Given the description of an element on the screen output the (x, y) to click on. 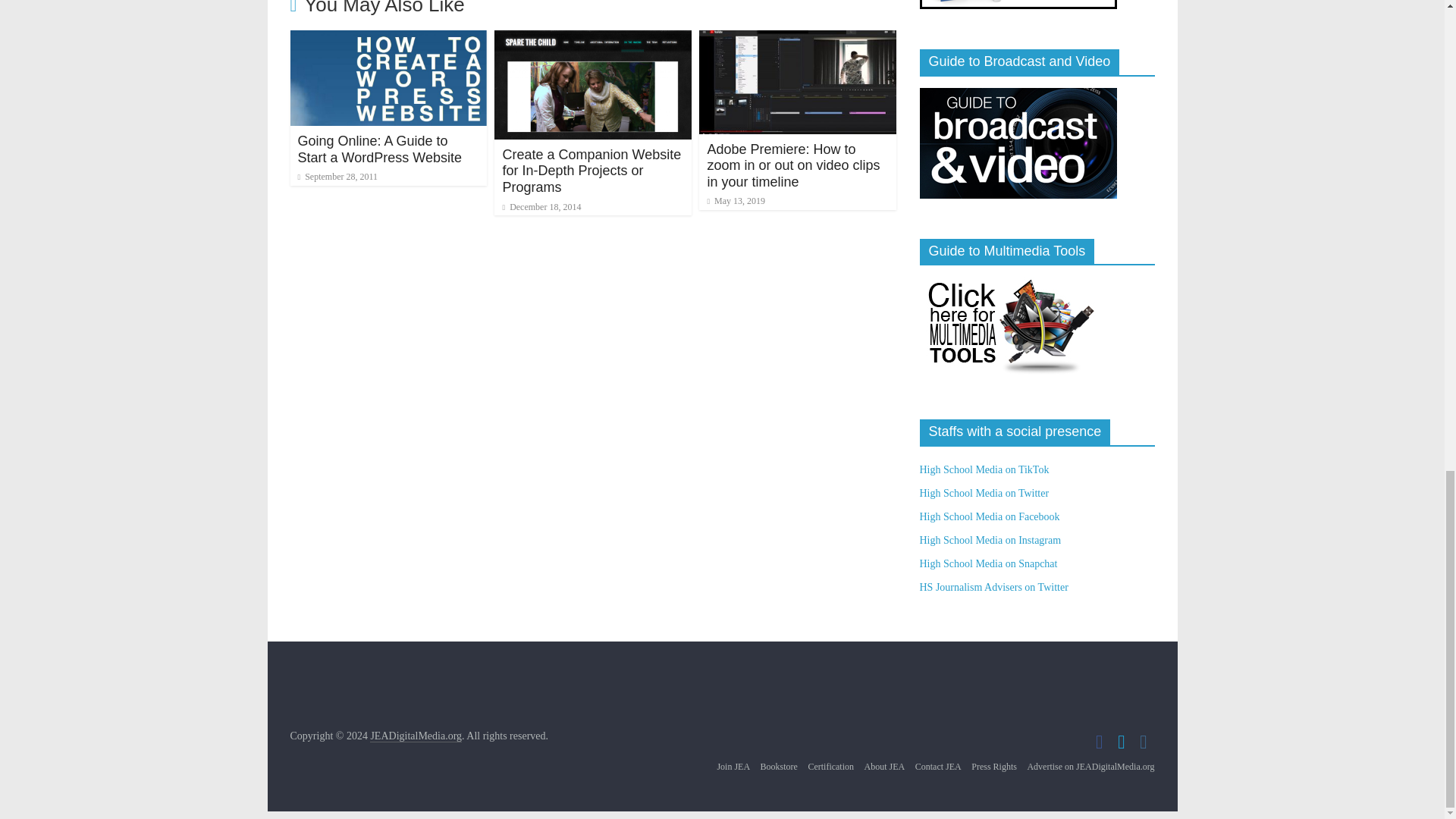
1:14 am (337, 176)
Going Online:  A Guide to Start a WordPress Website (379, 149)
Going Online:  A Guide to Start a WordPress Website (387, 39)
